Given the description of an element on the screen output the (x, y) to click on. 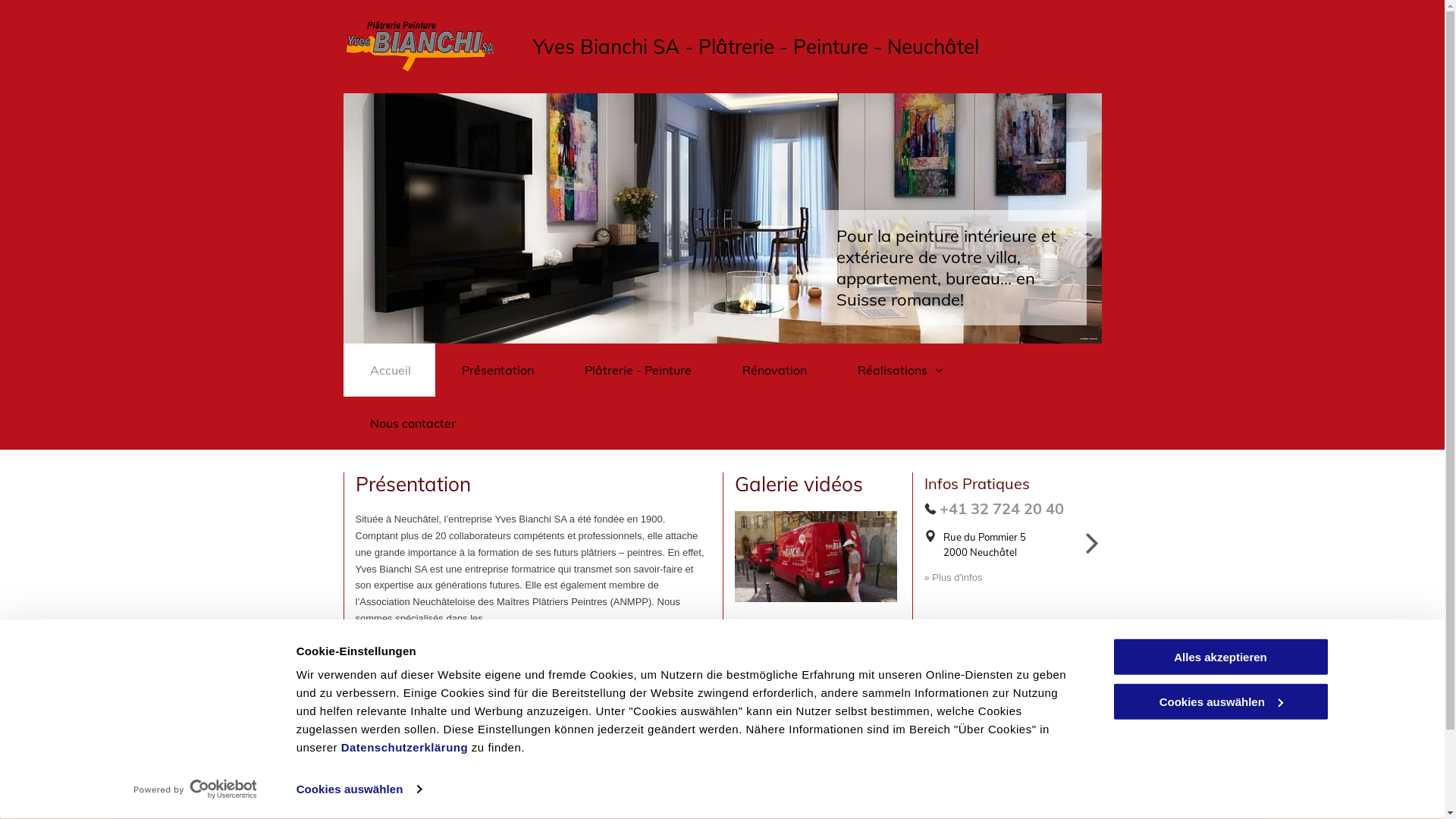
Yves Bianchi SA Element type: hover (815, 556)
+41 32 724 20 40 Element type: text (709, 810)
Yves Bianc Element type: text (581, 46)
+41 32 724 20 40 Element type: text (1000, 507)
fb:like Facebook Social Plugin Element type: hover (390, 764)
Plus d'infos Element type: text (379, 644)
Alles akzeptieren Element type: text (1219, 656)
Accueil Element type: text (388, 369)
Rue du Pommier 5 Element type: text (984, 536)
Nous contacter Element type: text (410, 422)
